Given the description of an element on the screen output the (x, y) to click on. 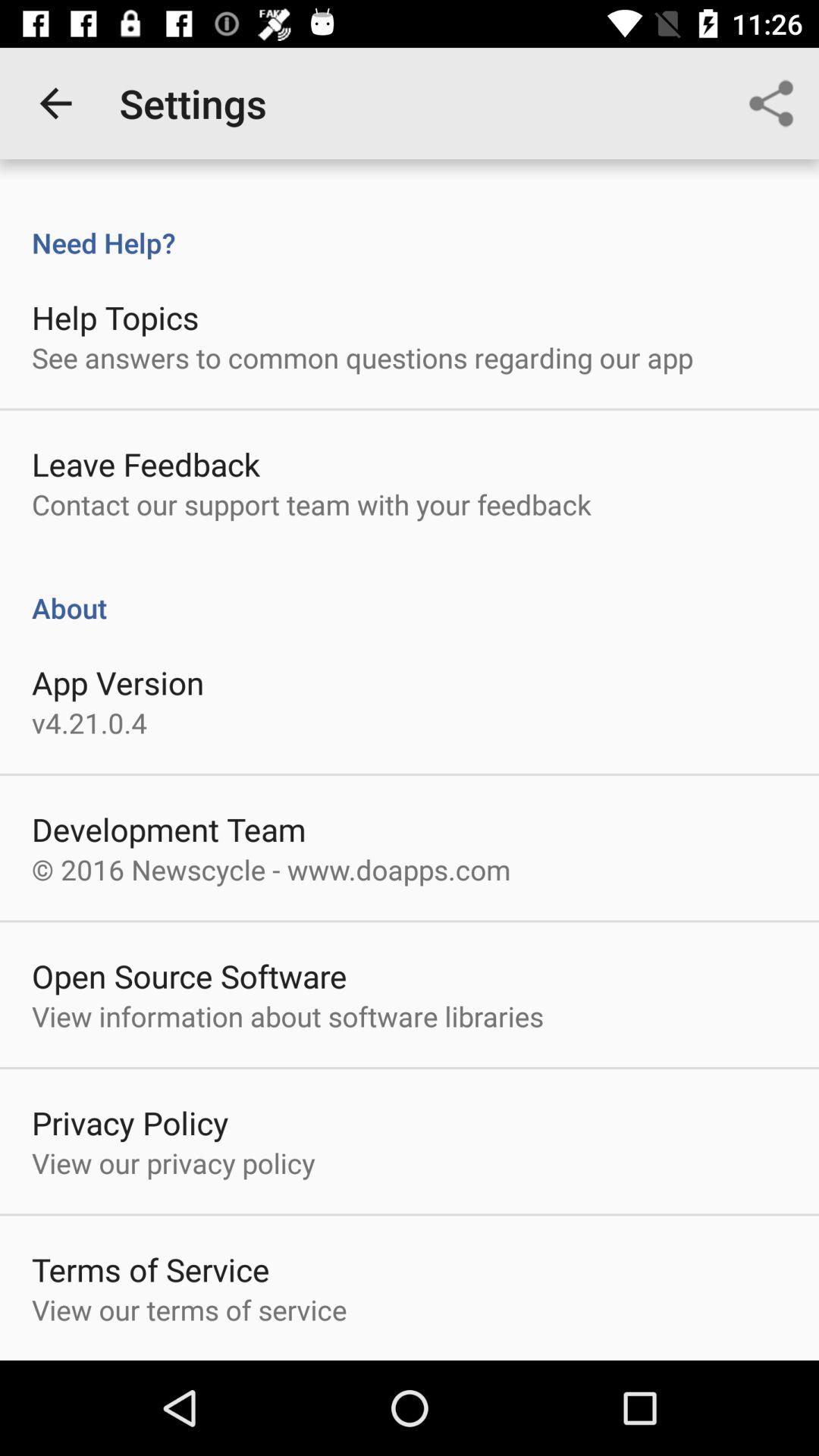
select item above v4 21 0 icon (117, 682)
